Given the description of an element on the screen output the (x, y) to click on. 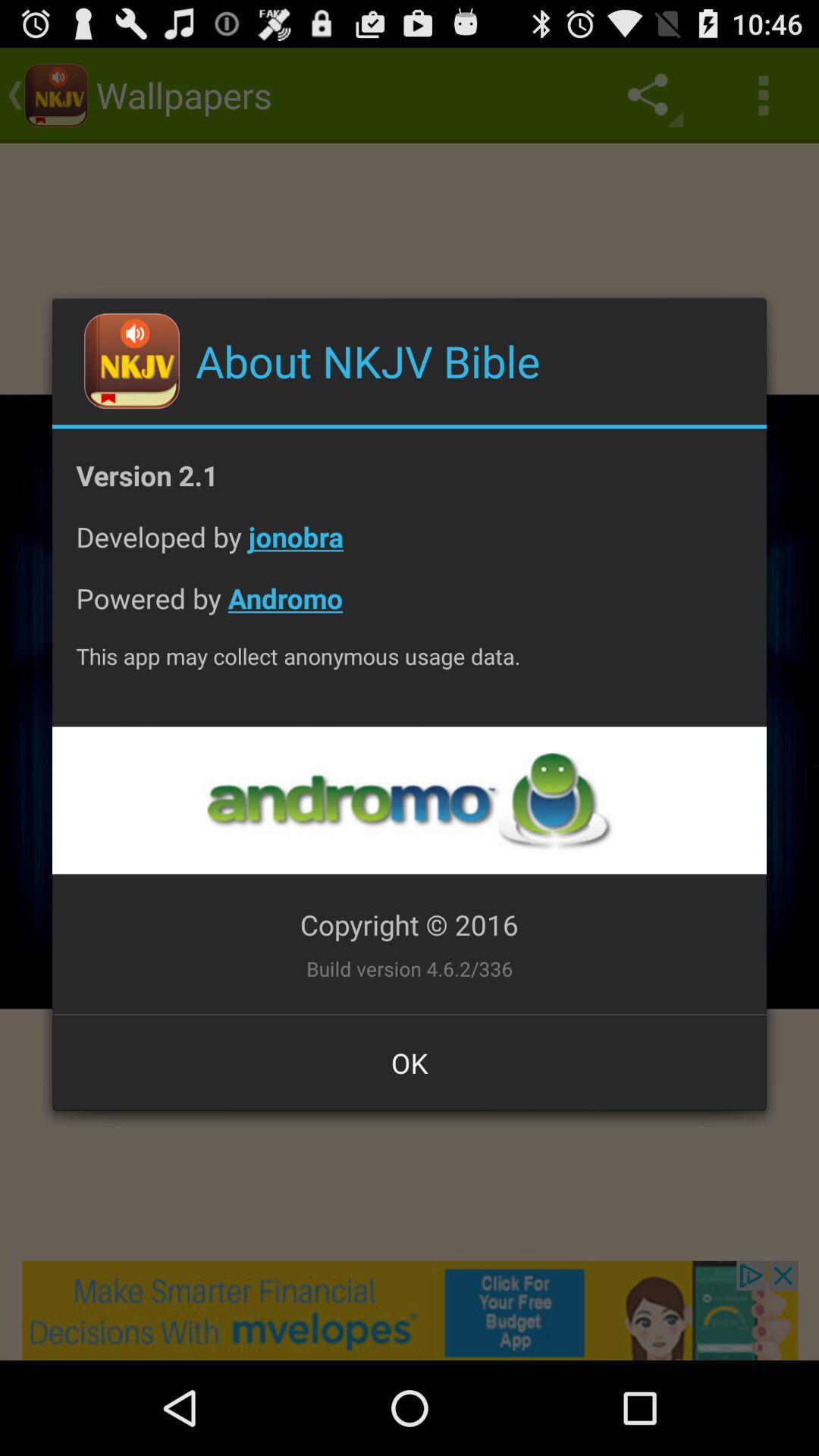
open the icon below the this app may item (408, 800)
